Given the description of an element on the screen output the (x, y) to click on. 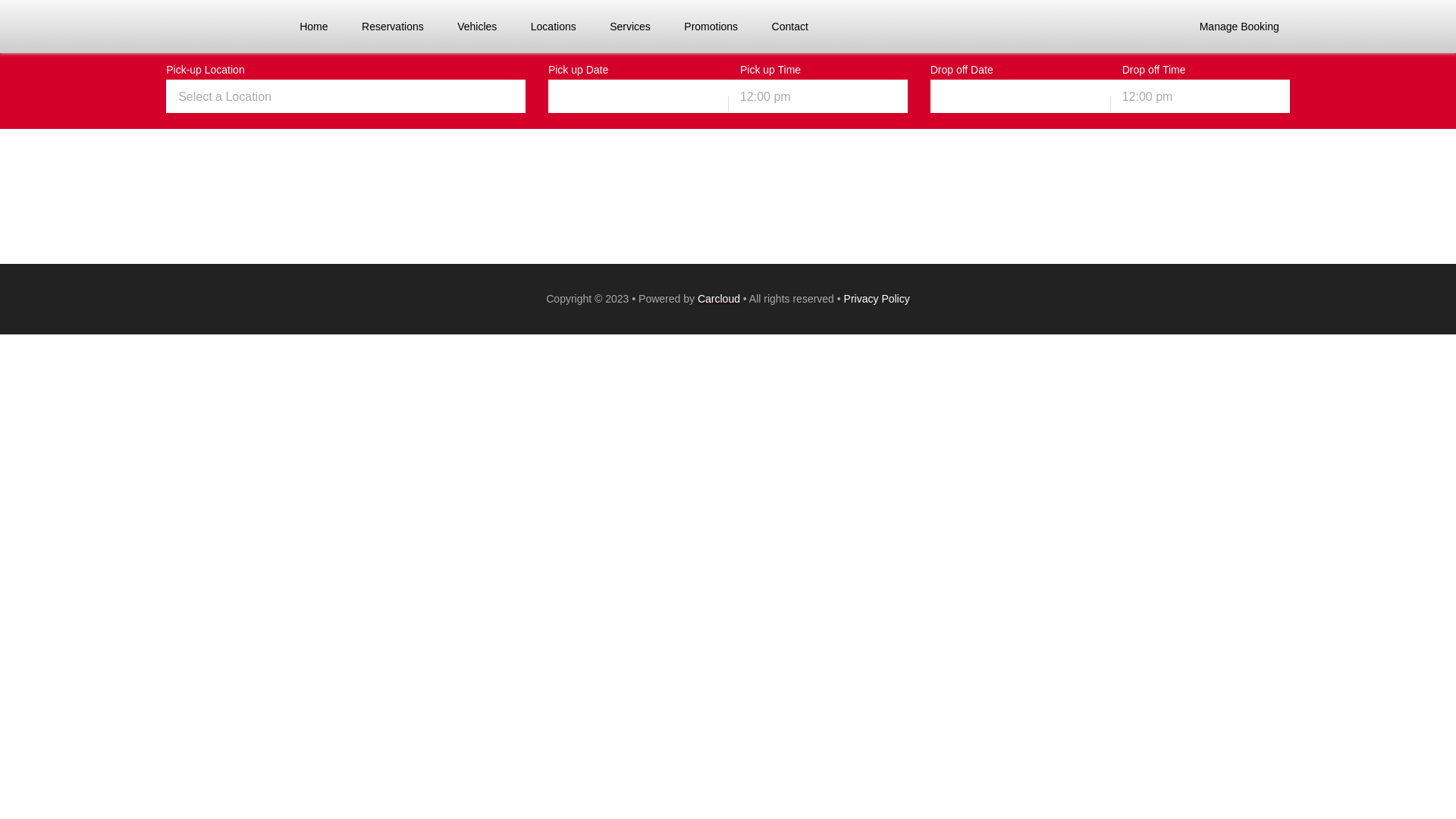
Reservations Element type: text (392, 26)
Promotions Element type: text (710, 26)
Privacy Policy Element type: text (877, 298)
Carcloud Element type: text (718, 298)
Services Element type: text (629, 26)
Home Element type: text (313, 26)
Vehicles Element type: text (476, 26)
Locations Element type: text (553, 26)
Contact Element type: text (790, 26)
Manage Booking Element type: text (1239, 26)
Find a Vehicle Element type: text (1109, 140)
